Given the description of an element on the screen output the (x, y) to click on. 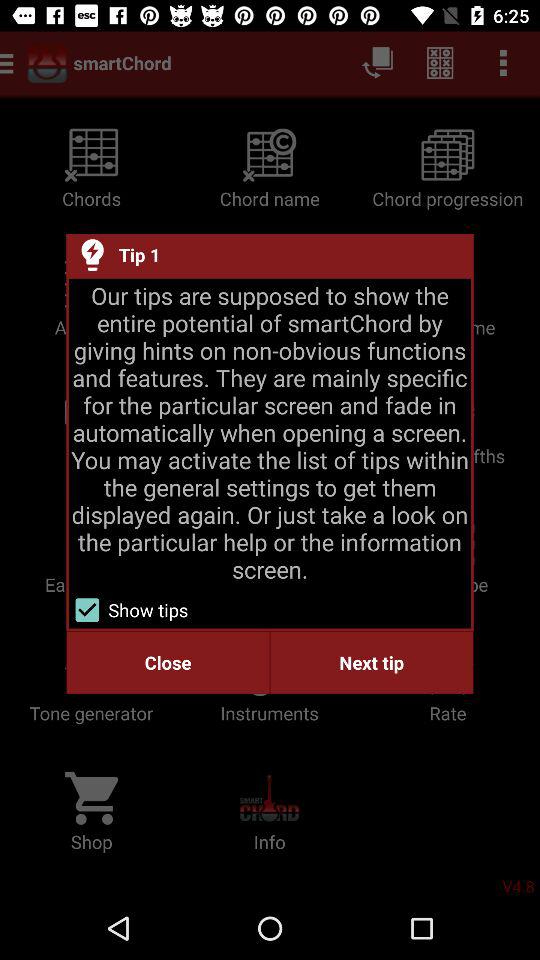
jump until our tips are item (269, 432)
